Given the description of an element on the screen output the (x, y) to click on. 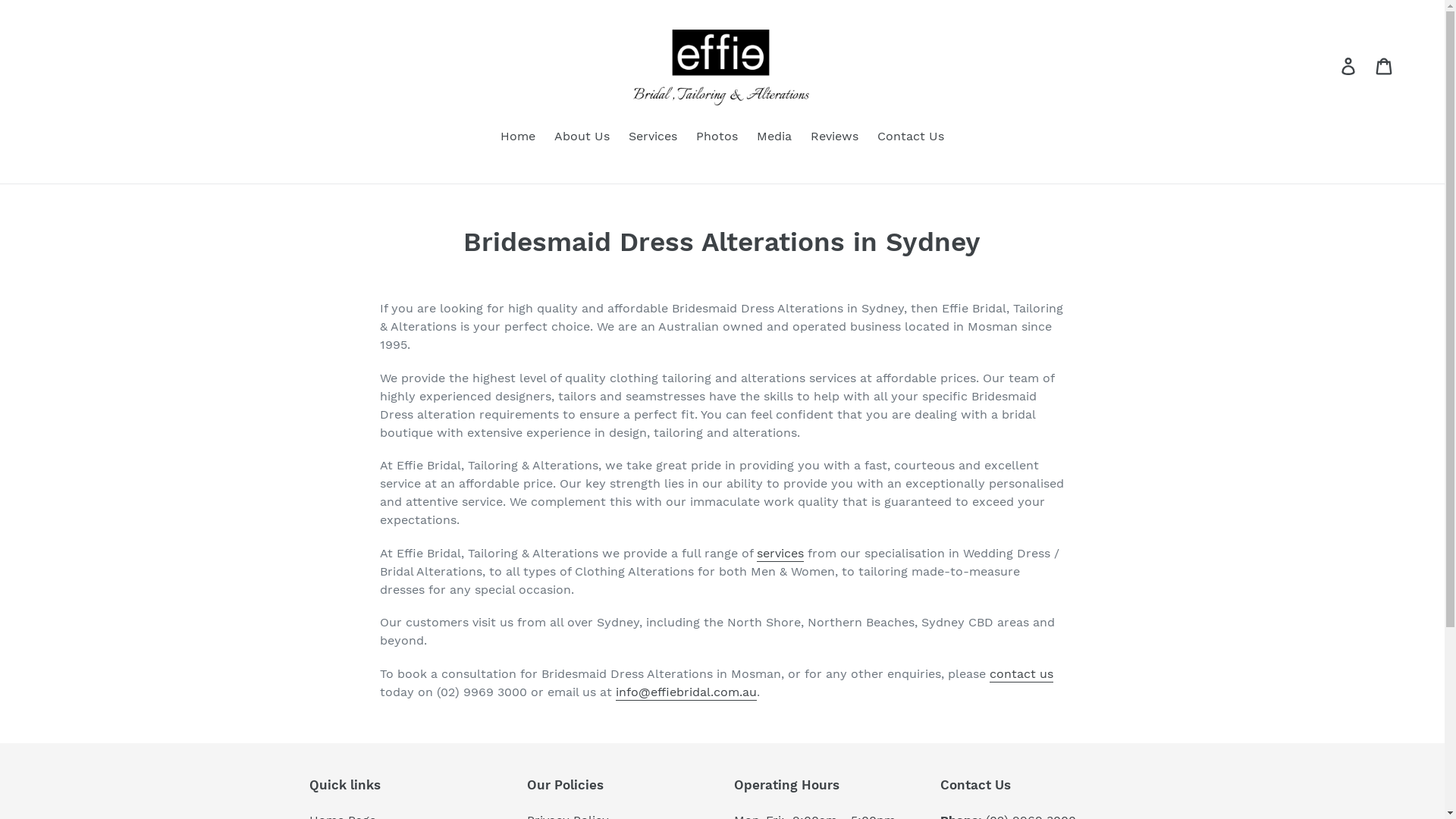
Log in Element type: text (1349, 65)
contact us Element type: text (1021, 673)
Photos Element type: text (716, 137)
info@effiebridal.com.au Element type: text (685, 691)
Home Element type: text (517, 137)
Media Element type: text (774, 137)
Services Element type: text (652, 137)
services Element type: text (779, 553)
Cart Element type: text (1384, 65)
About Us Element type: text (581, 137)
Reviews Element type: text (834, 137)
Contact Us Element type: text (910, 137)
